Given the description of an element on the screen output the (x, y) to click on. 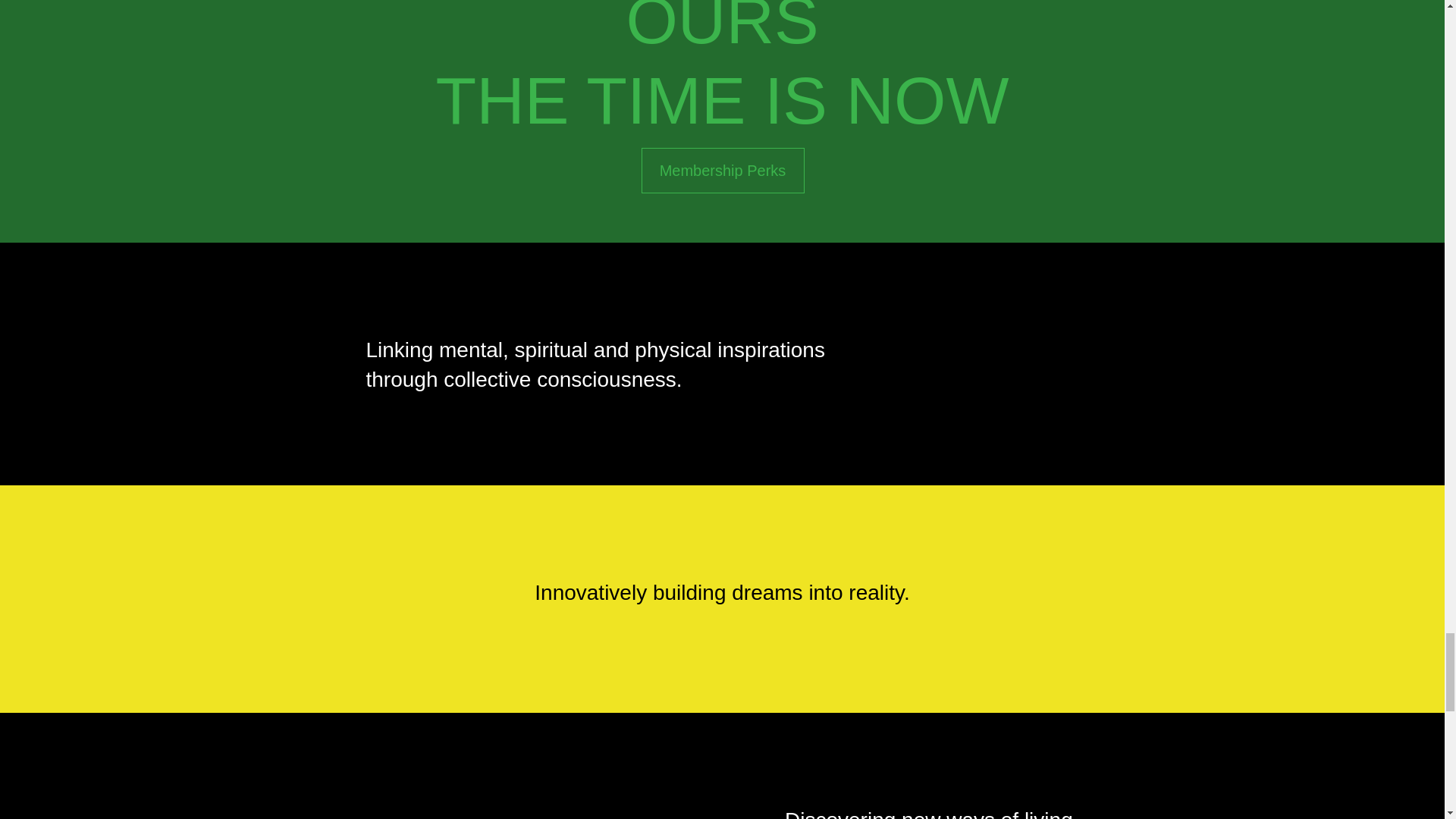
Membership Perks (723, 170)
